Given the description of an element on the screen output the (x, y) to click on. 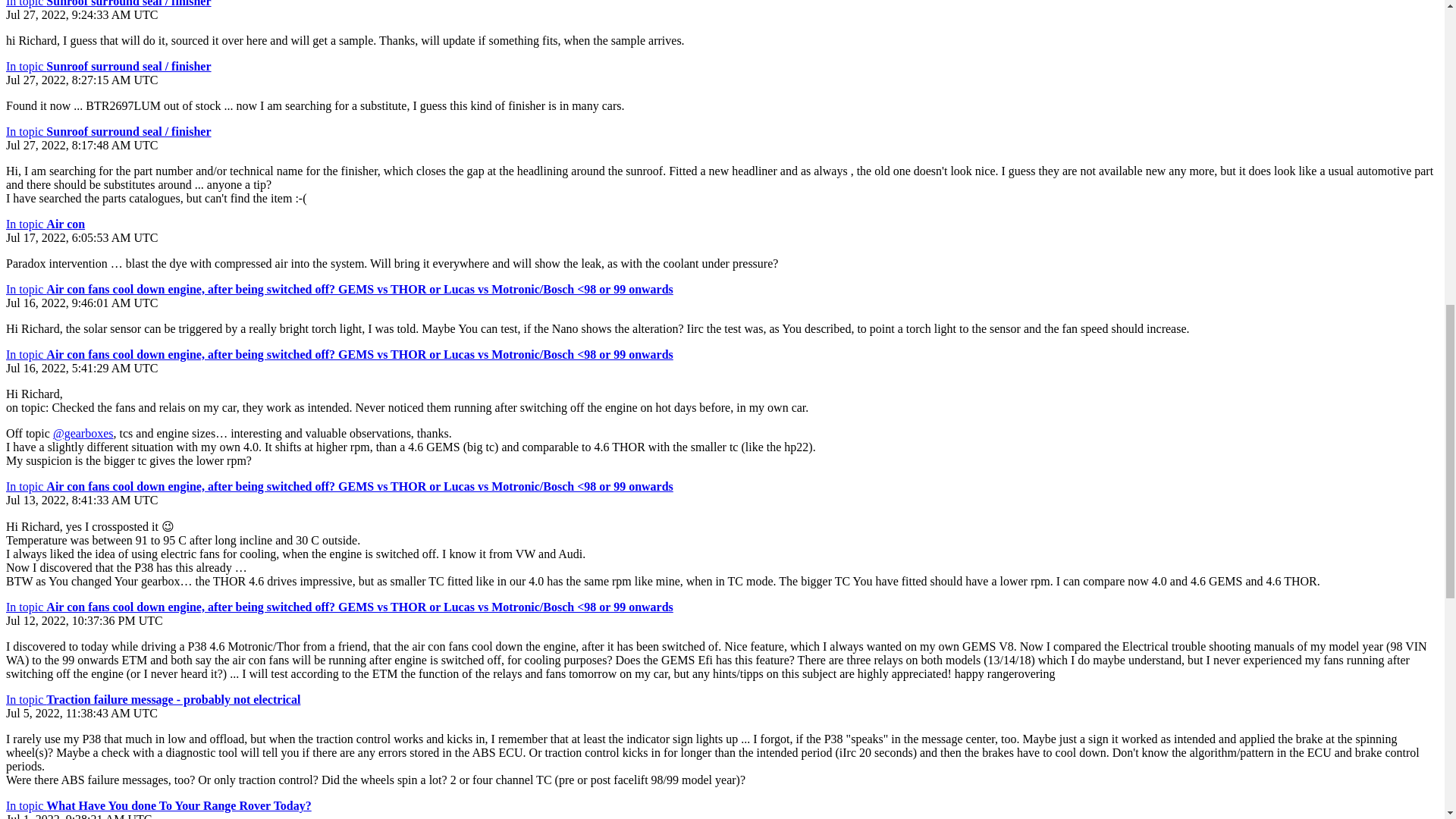
In topic Air con (44, 223)
In topic What Have You done To Your Range Rover Today? (158, 805)
In topic Traction failure message - probably not electrical (152, 698)
